Given the description of an element on the screen output the (x, y) to click on. 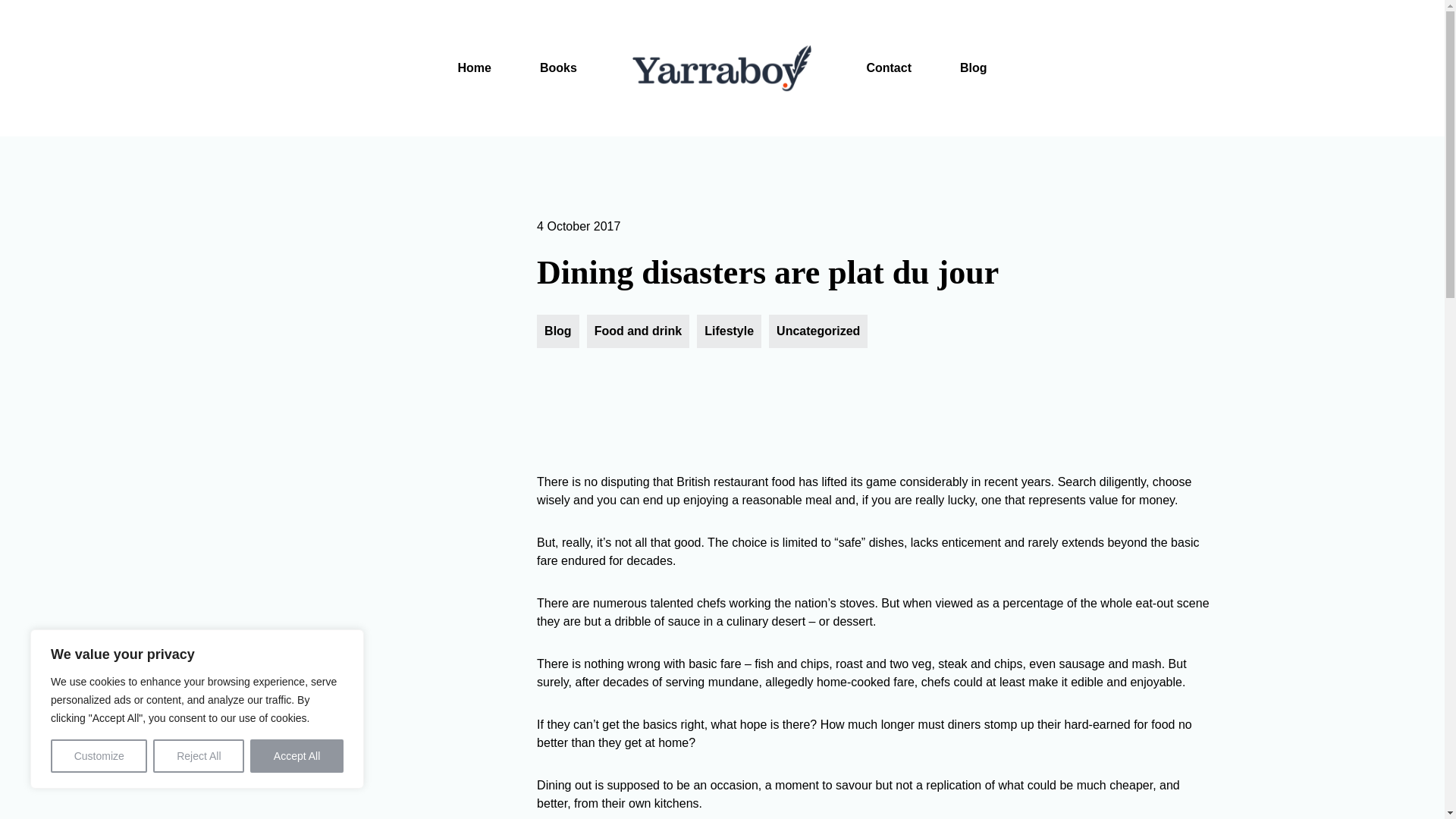
Books (558, 67)
Home (473, 67)
Accept All (296, 756)
Customize (98, 756)
Contact (888, 67)
Uncategorized (817, 331)
Blog (973, 67)
Reject All (198, 756)
Food and drink (638, 331)
Blog (558, 331)
